Given the description of an element on the screen output the (x, y) to click on. 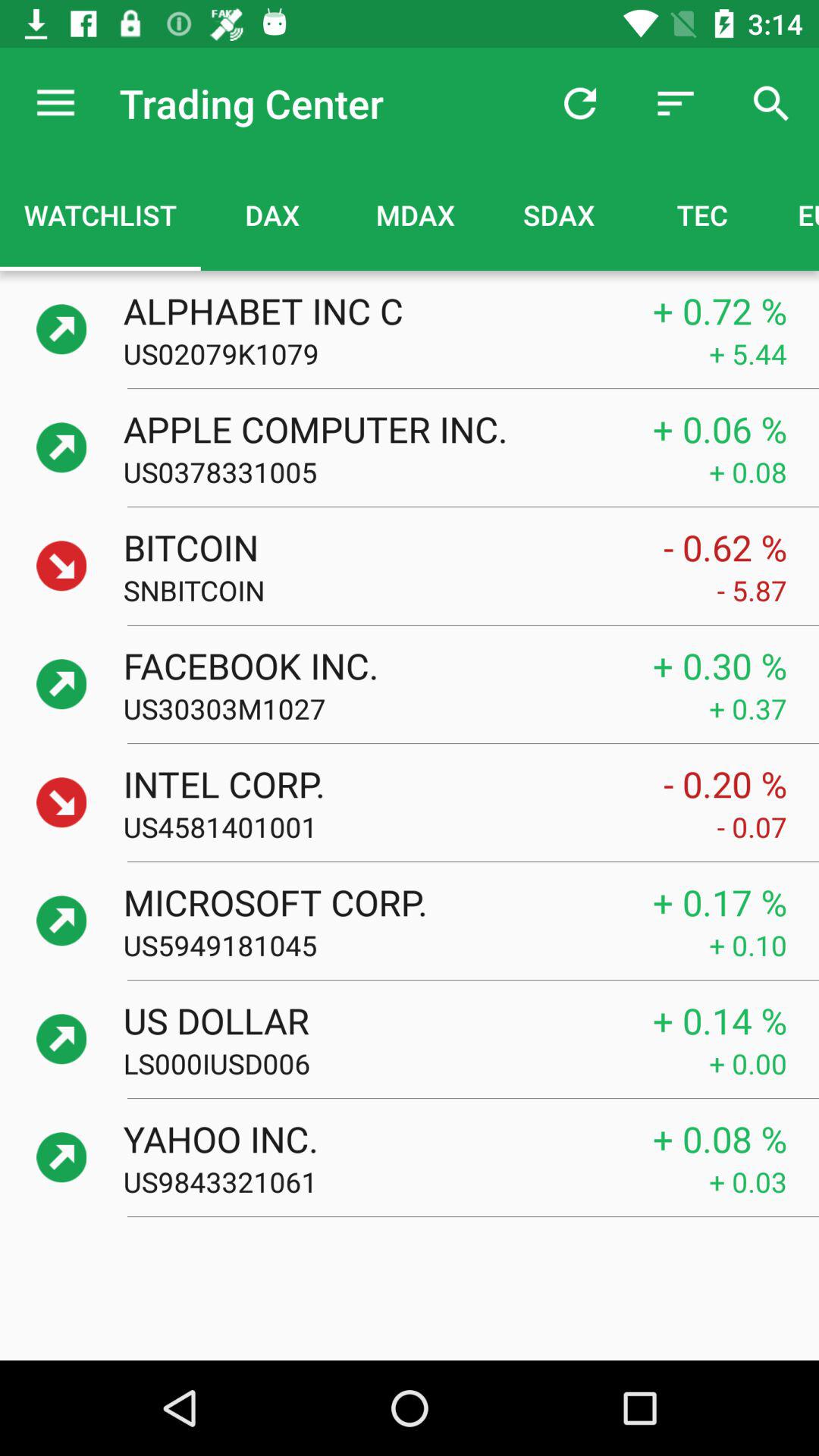
choose icon next to - 5.87 (420, 590)
